Given the description of an element on the screen output the (x, y) to click on. 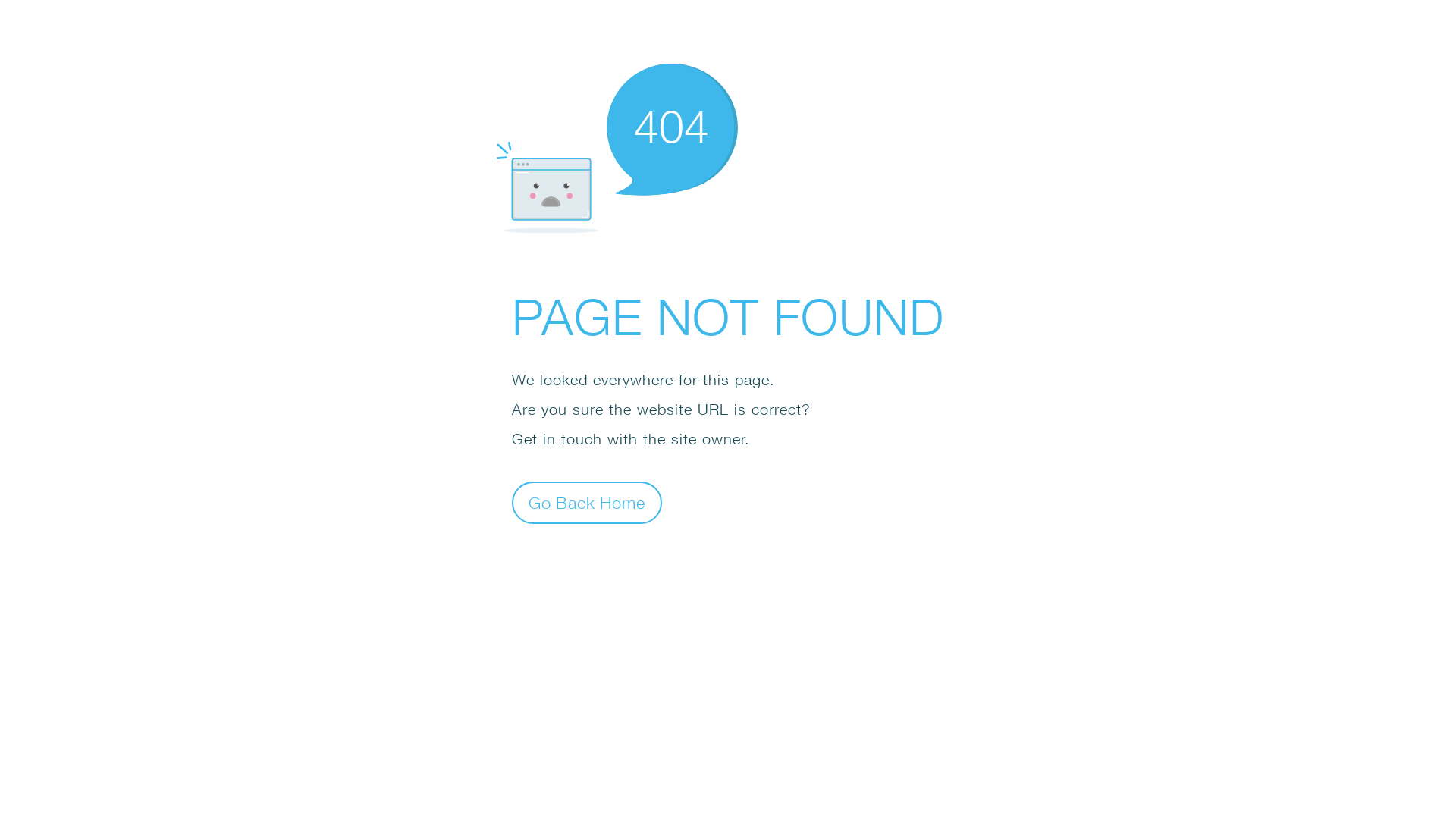
Go Back Home Element type: text (586, 502)
